Given the description of an element on the screen output the (x, y) to click on. 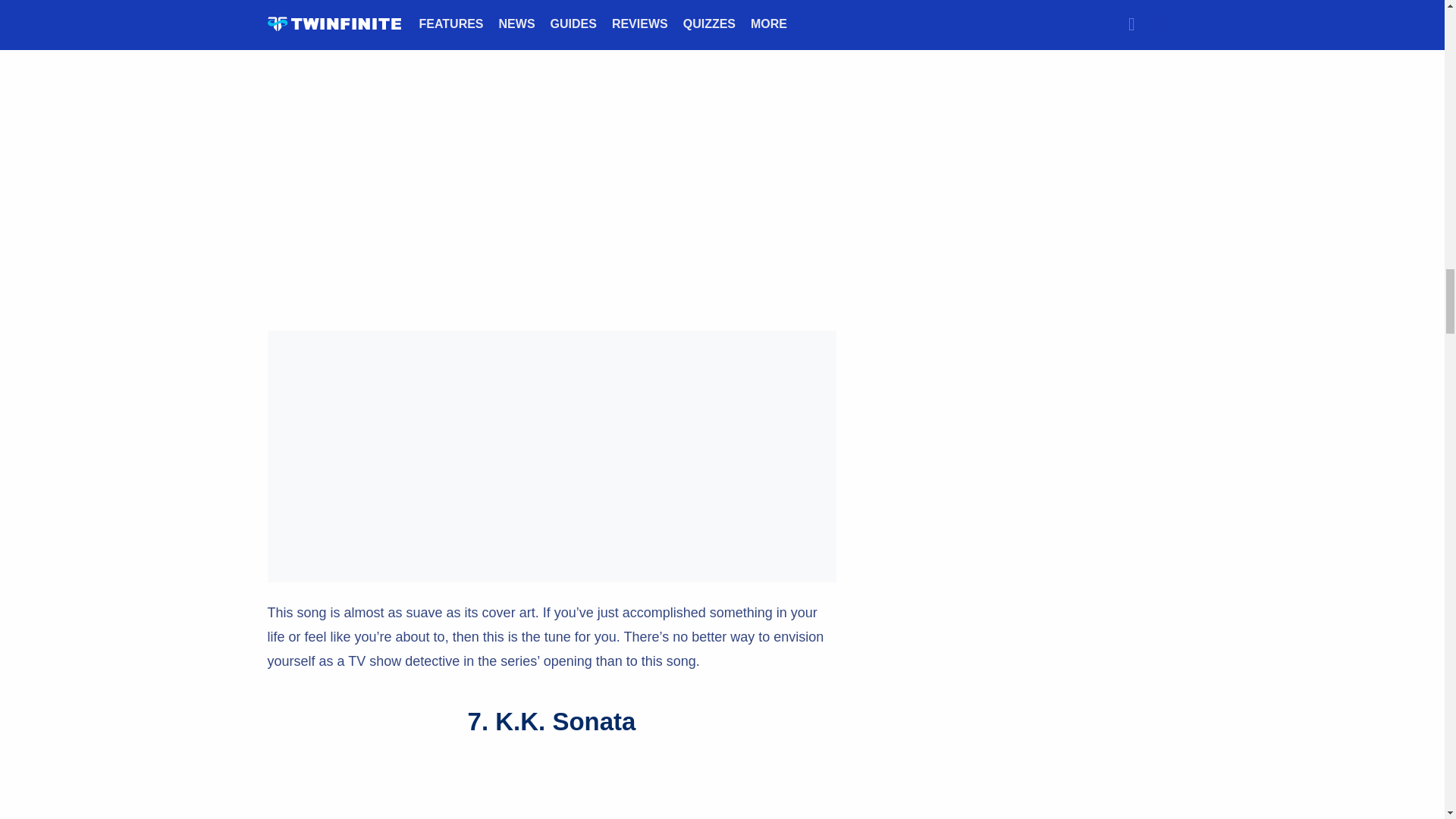
K.K. Sonata - K.K. Slider (550, 788)
